Given the description of an element on the screen output the (x, y) to click on. 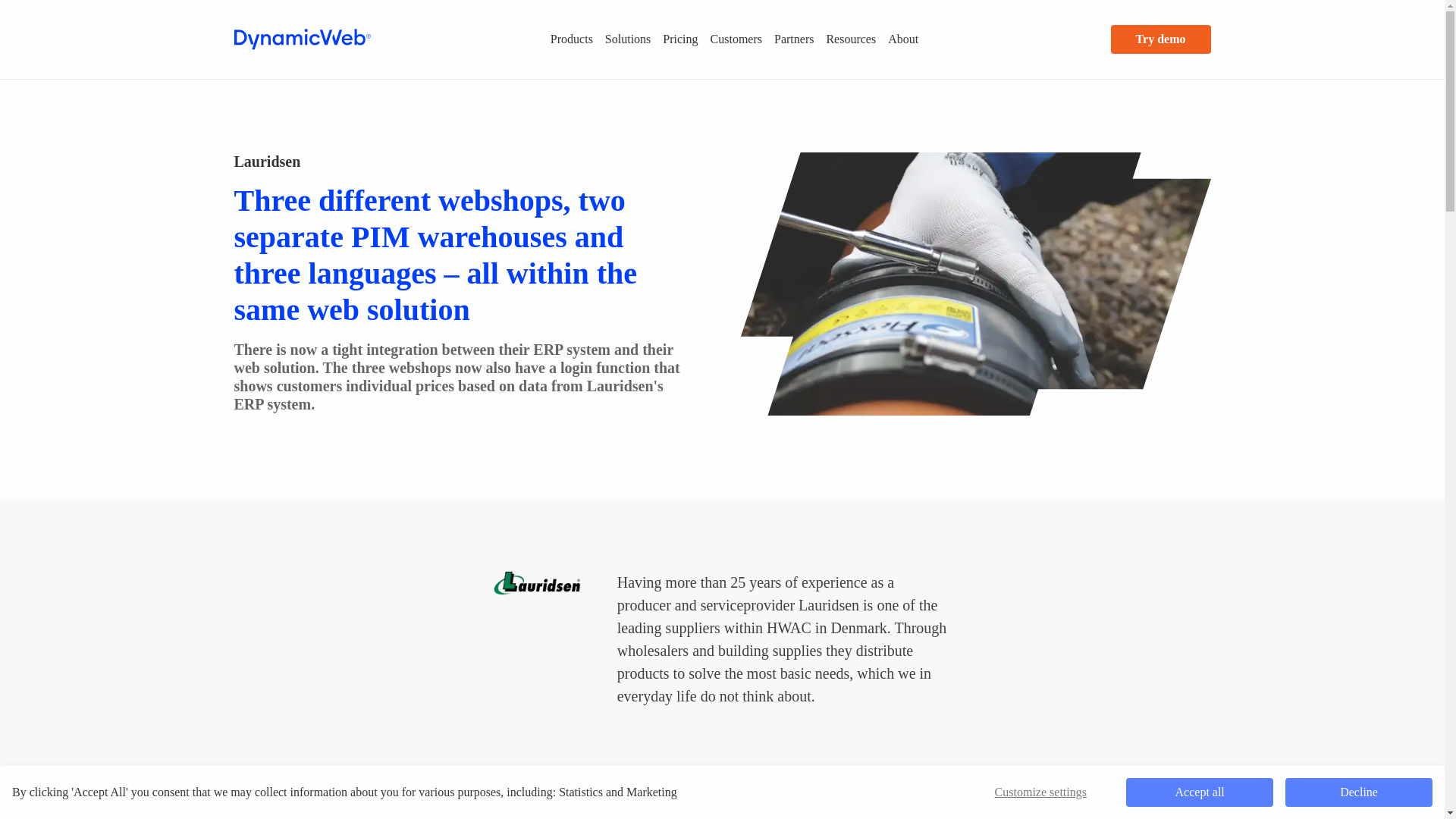
Pricing (679, 39)
Partners (793, 39)
Solutions (627, 39)
Customers (736, 39)
Products (571, 39)
